Given the description of an element on the screen output the (x, y) to click on. 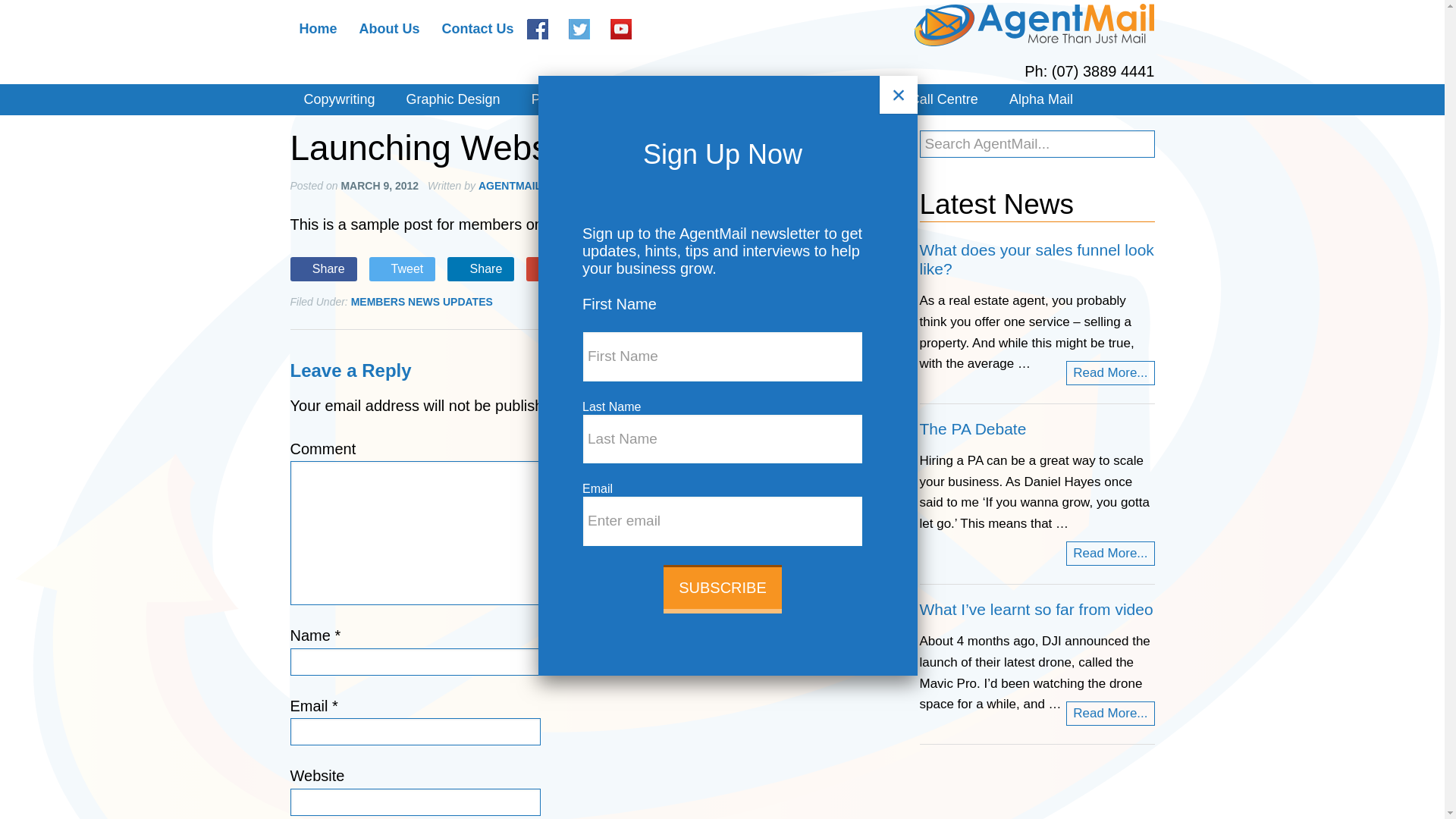
Direct Mail Distribution (810, 98)
MEMBERS NEWS UPDATES (421, 301)
AgentMail (1034, 26)
Alpha Mail (1040, 98)
About Us (389, 29)
   Share (322, 269)
Read More... (1109, 553)
Contact Us (477, 29)
Copywriting (338, 98)
What does your sales funnel look like? (1035, 258)
Graphic Design (453, 98)
Letter Box Drops (660, 98)
Read More... (1109, 372)
Read More... (1109, 713)
